Given the description of an element on the screen output the (x, y) to click on. 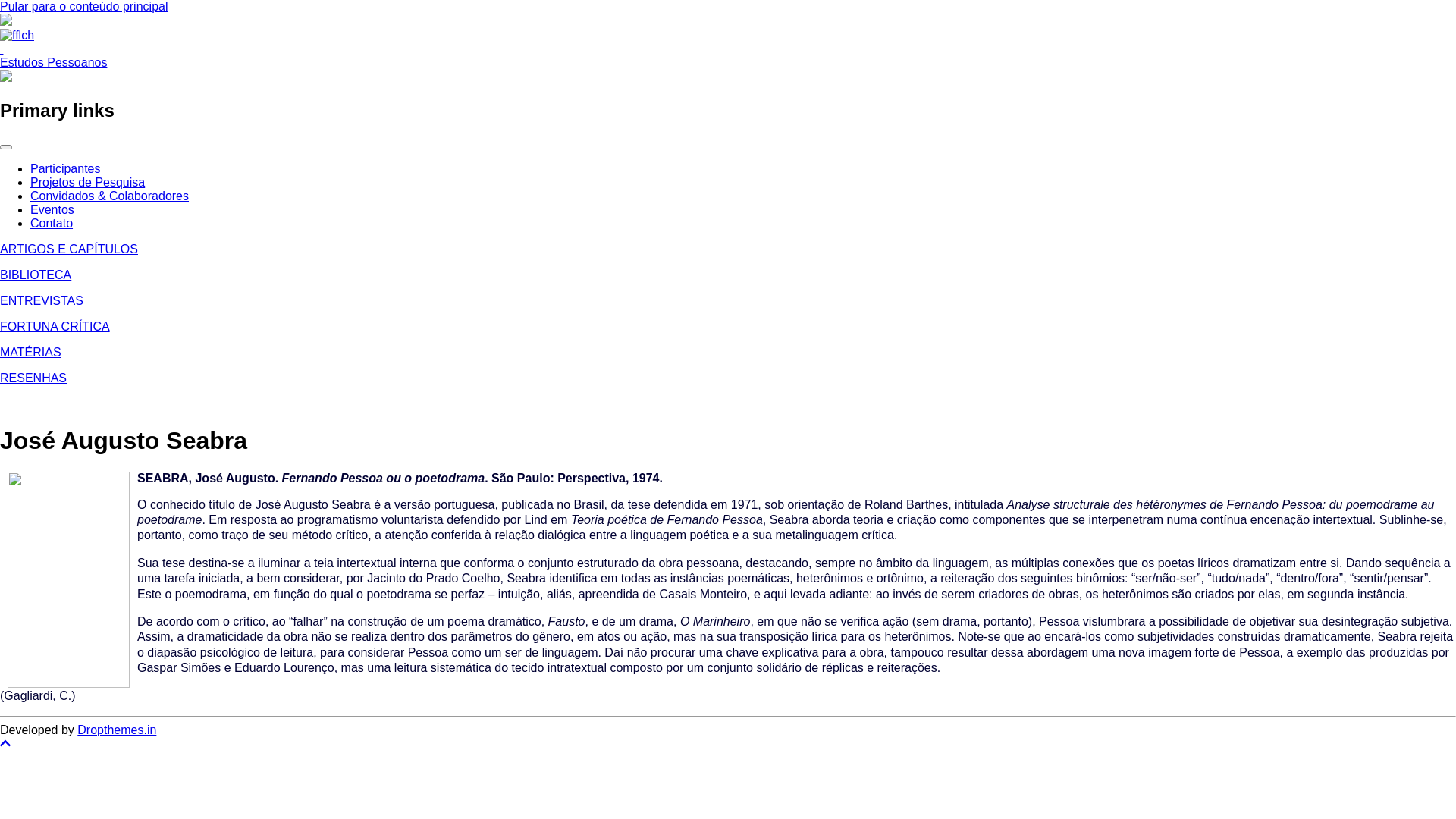
Participantes Element type: text (65, 168)
Projetos de Pesquisa Element type: text (87, 181)
Contato Element type: text (51, 222)
BIBLIOTECA Element type: text (35, 274)
  Element type: text (1, 48)
ENTREVISTAS Element type: text (41, 300)
Estudos Pessoanos Element type: text (53, 62)
Eventos Element type: text (52, 209)
Convidados & Colaboradores Element type: text (109, 195)
RESENHAS Element type: text (33, 377)
Dropthemes.in Element type: text (116, 729)
